Given the description of an element on the screen output the (x, y) to click on. 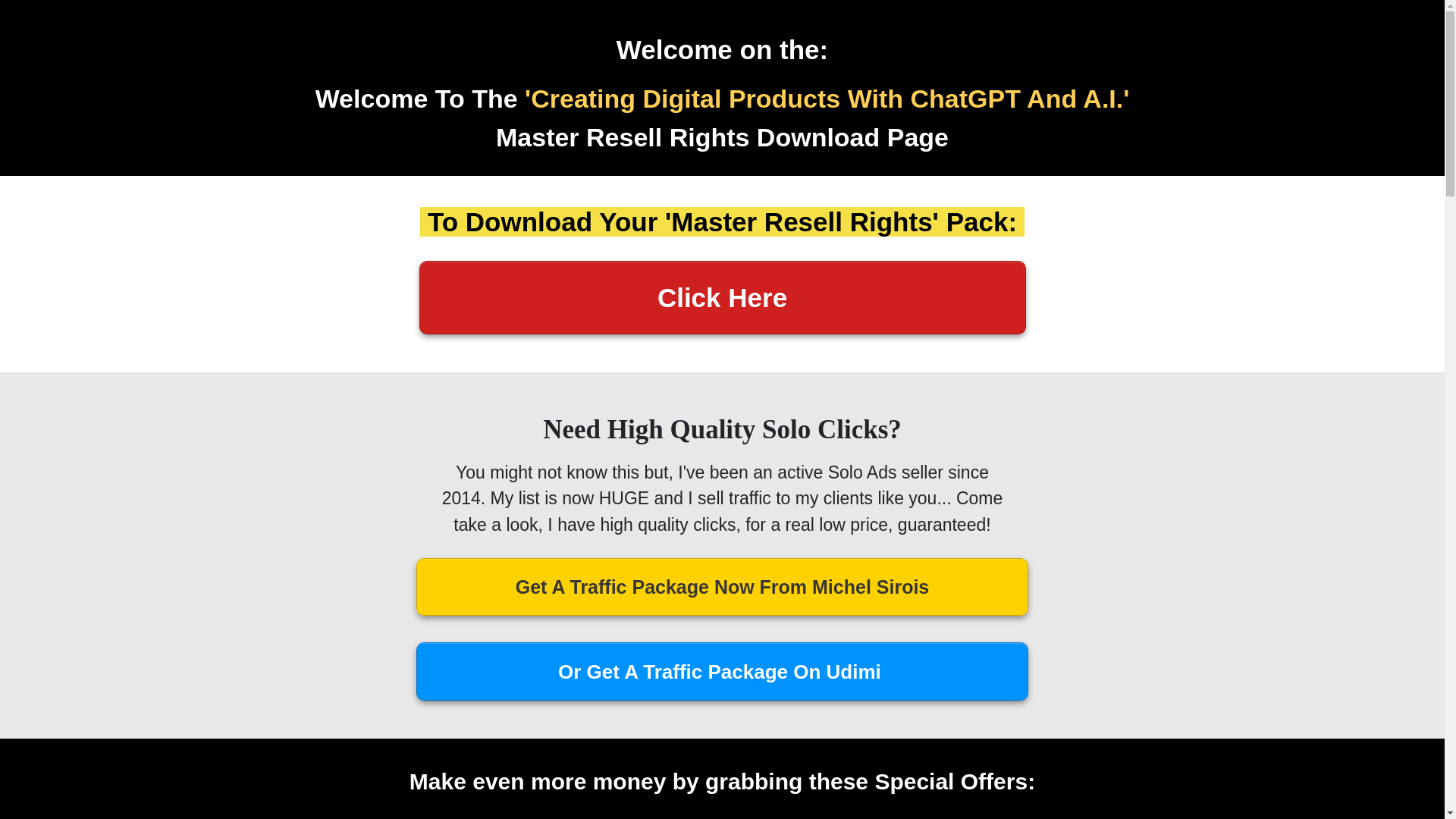
Get A Traffic Package Now From Michel Sirois (721, 586)
Click Here (722, 297)
Or Get A Traffic Package On Udimi  (721, 671)
